Given the description of an element on the screen output the (x, y) to click on. 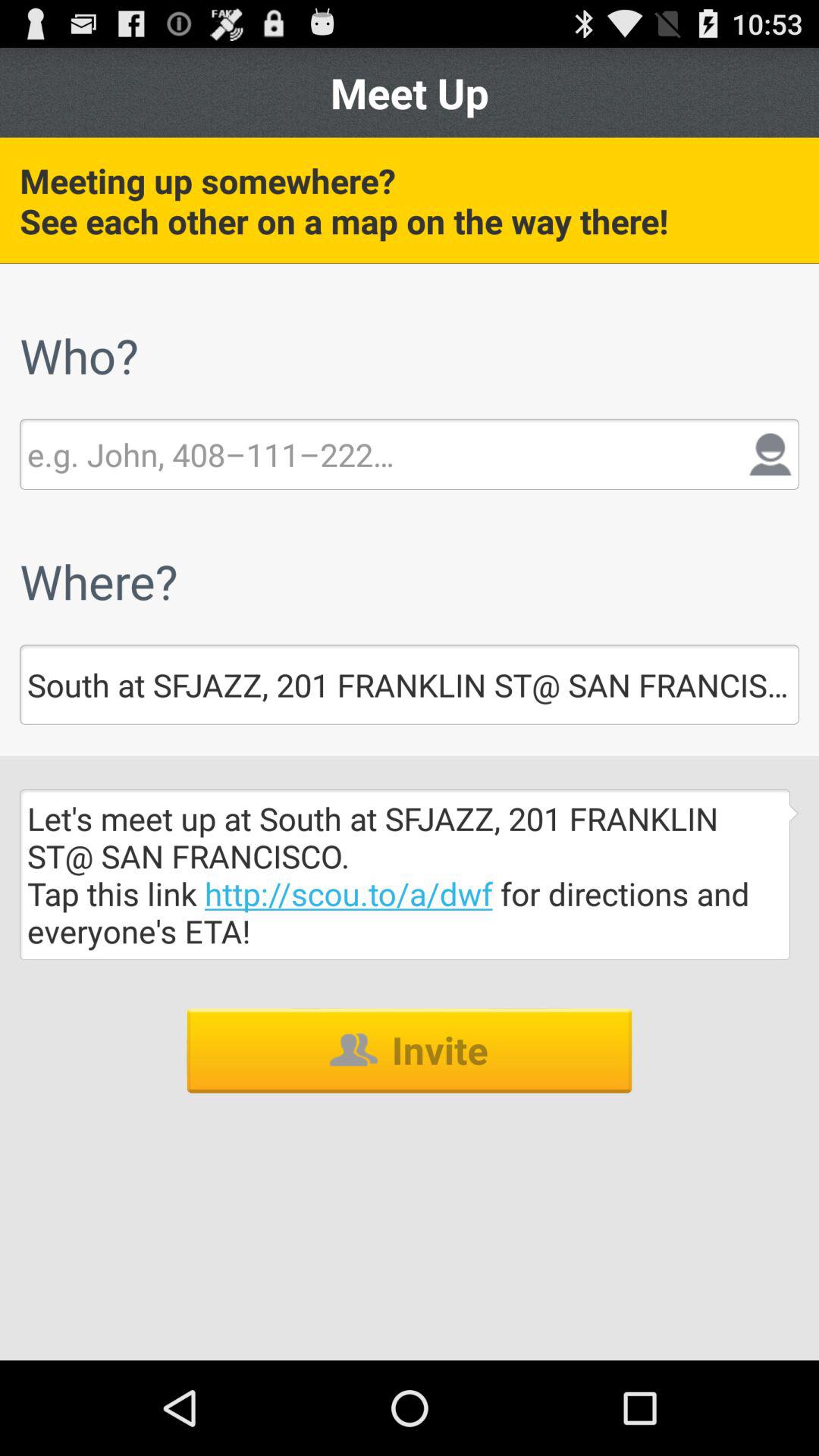
type here (210, 454)
